Given the description of an element on the screen output the (x, y) to click on. 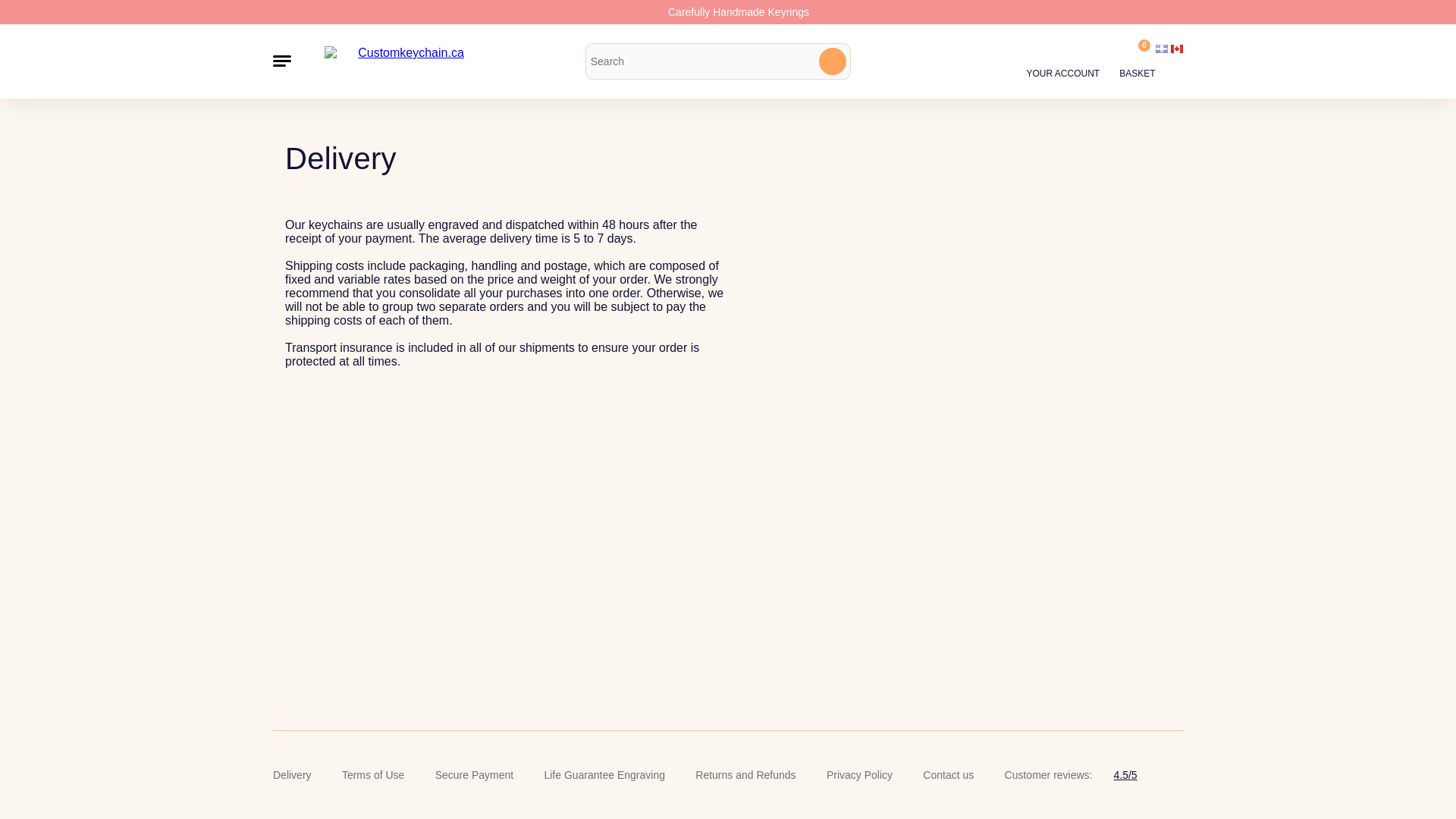
Terms of Use (373, 774)
Life Guarantee Engraving (604, 774)
Customkeychain.ca (404, 60)
YOUR ACCOUNT (1063, 61)
Log in to your customer account (1063, 61)
Secure payment (474, 774)
Contact us (948, 774)
Use the form to contact us (948, 774)
Privacy Policy (859, 774)
Secure Payment (474, 774)
